Given the description of an element on the screen output the (x, y) to click on. 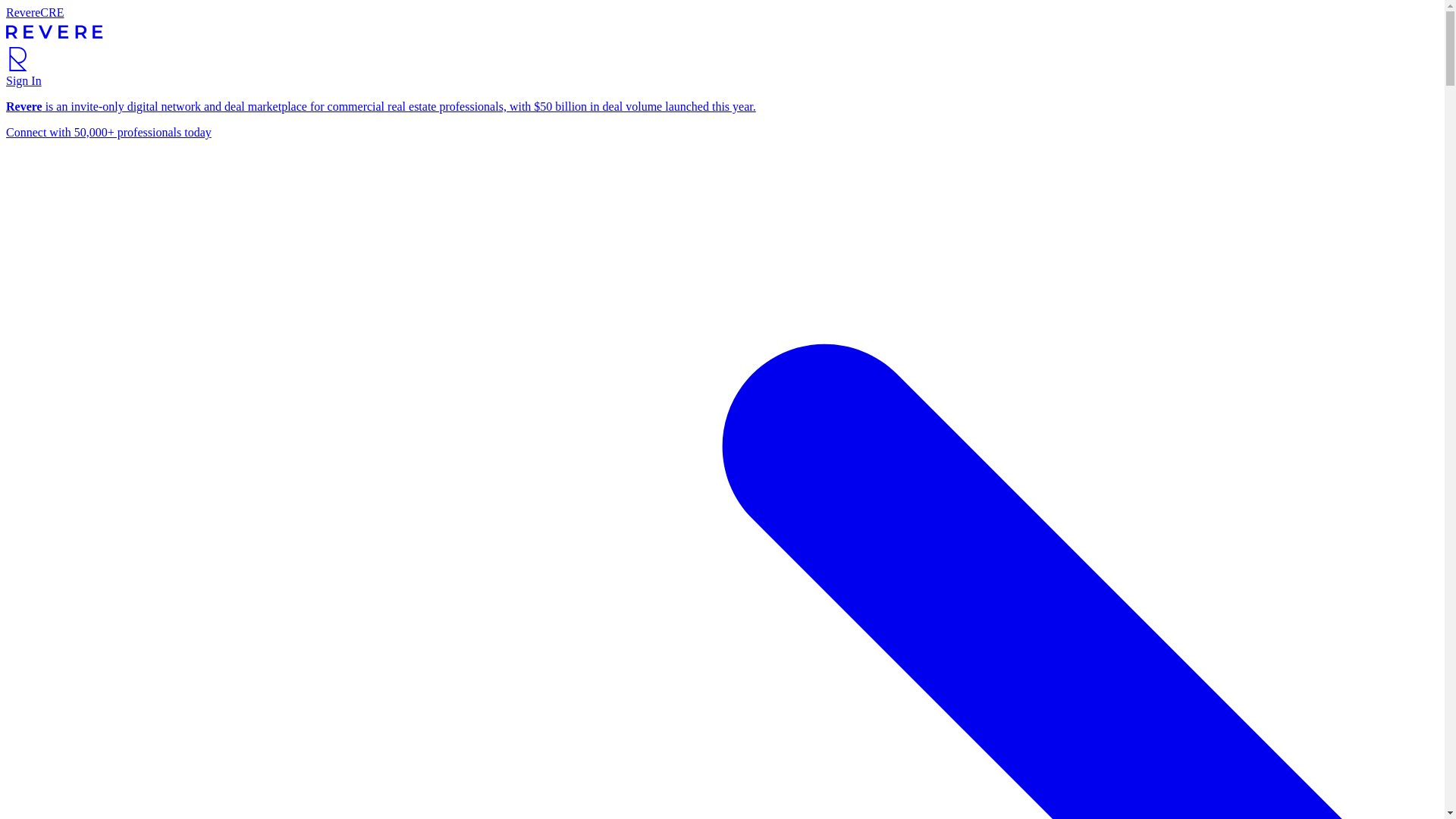
Sign In (23, 80)
